Given the description of an element on the screen output the (x, y) to click on. 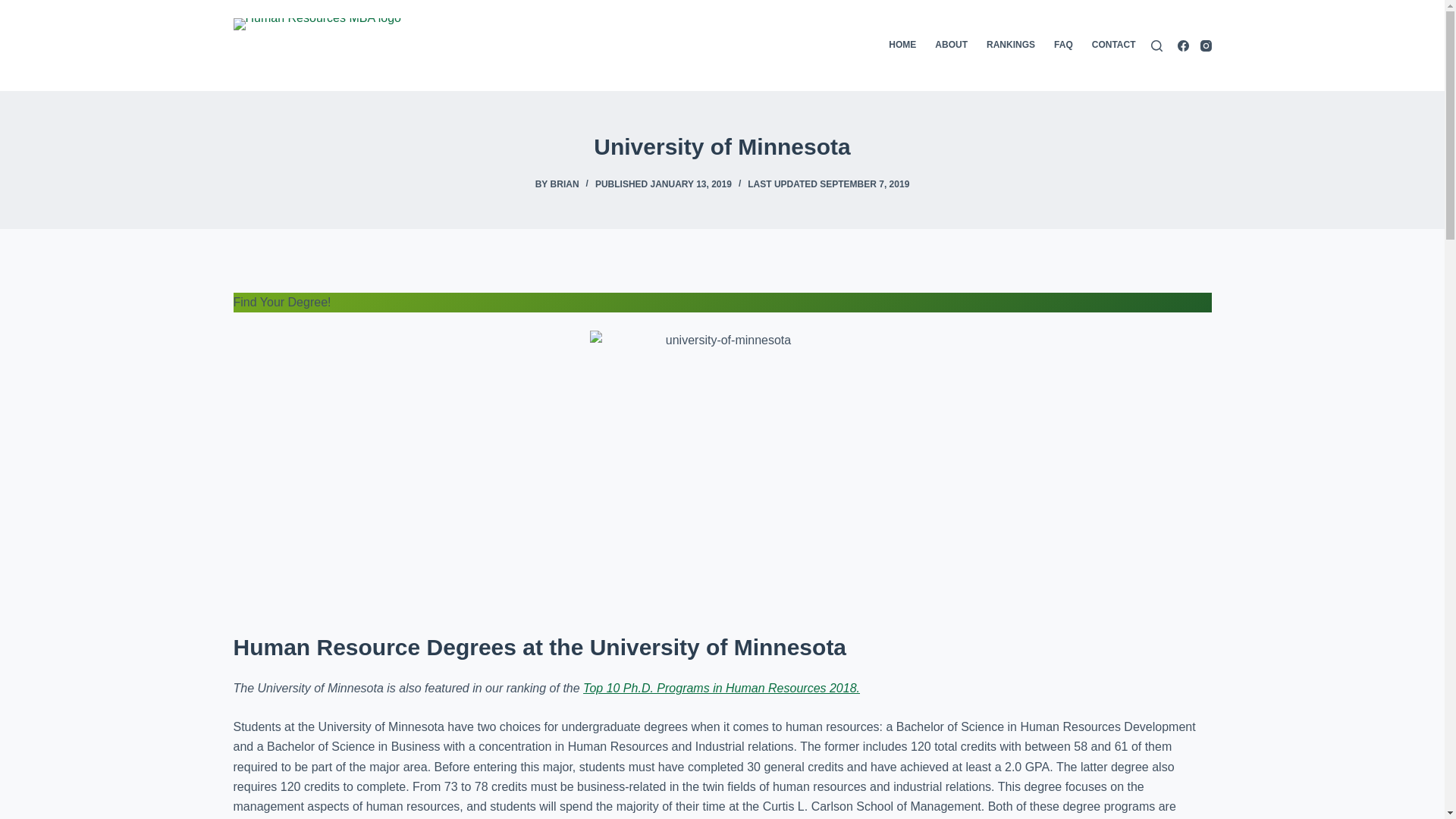
Posts by Brian (564, 184)
Skip to content (15, 7)
University of Minnesota (722, 146)
